Given the description of an element on the screen output the (x, y) to click on. 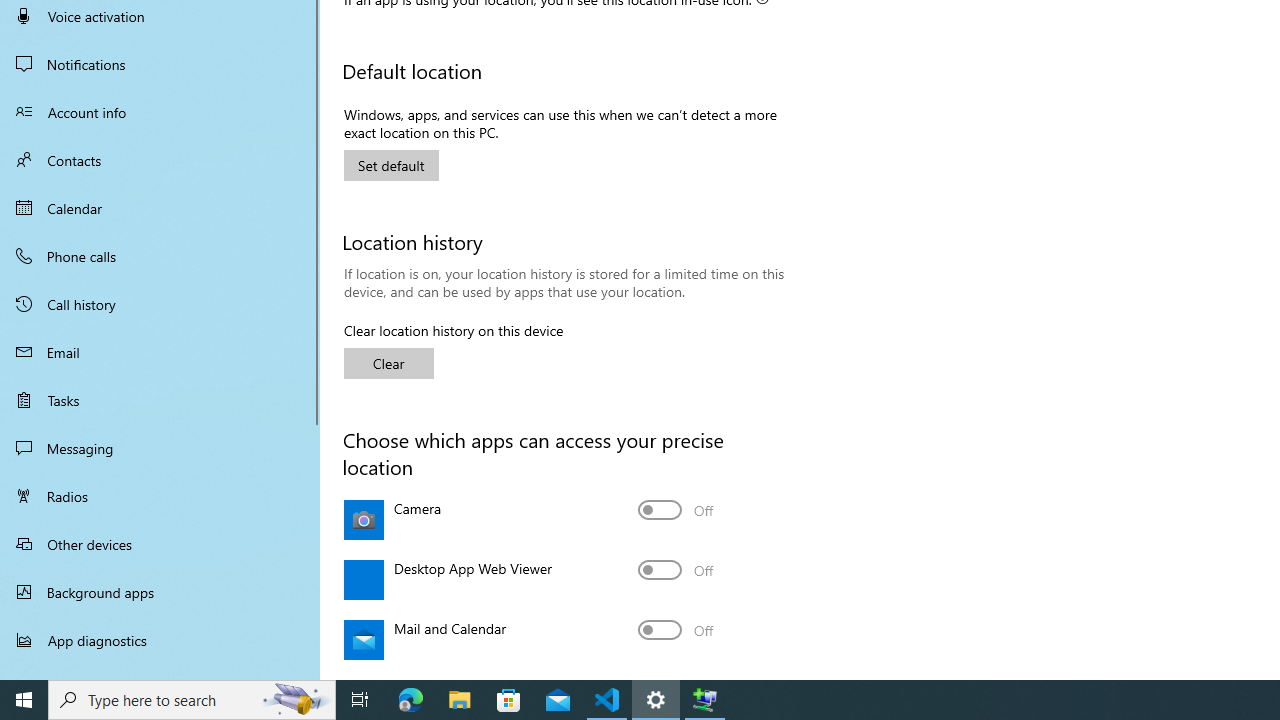
Contacts (160, 160)
Call history (160, 304)
Other devices (160, 543)
Background apps (160, 592)
Mail and Calendar (675, 629)
App diagnostics (160, 639)
Calendar (160, 207)
Automatic file downloads (160, 671)
Camera (675, 509)
Phone calls (160, 255)
Radios (160, 495)
Clear (388, 362)
Desktop App Web Viewer (675, 569)
